Given the description of an element on the screen output the (x, y) to click on. 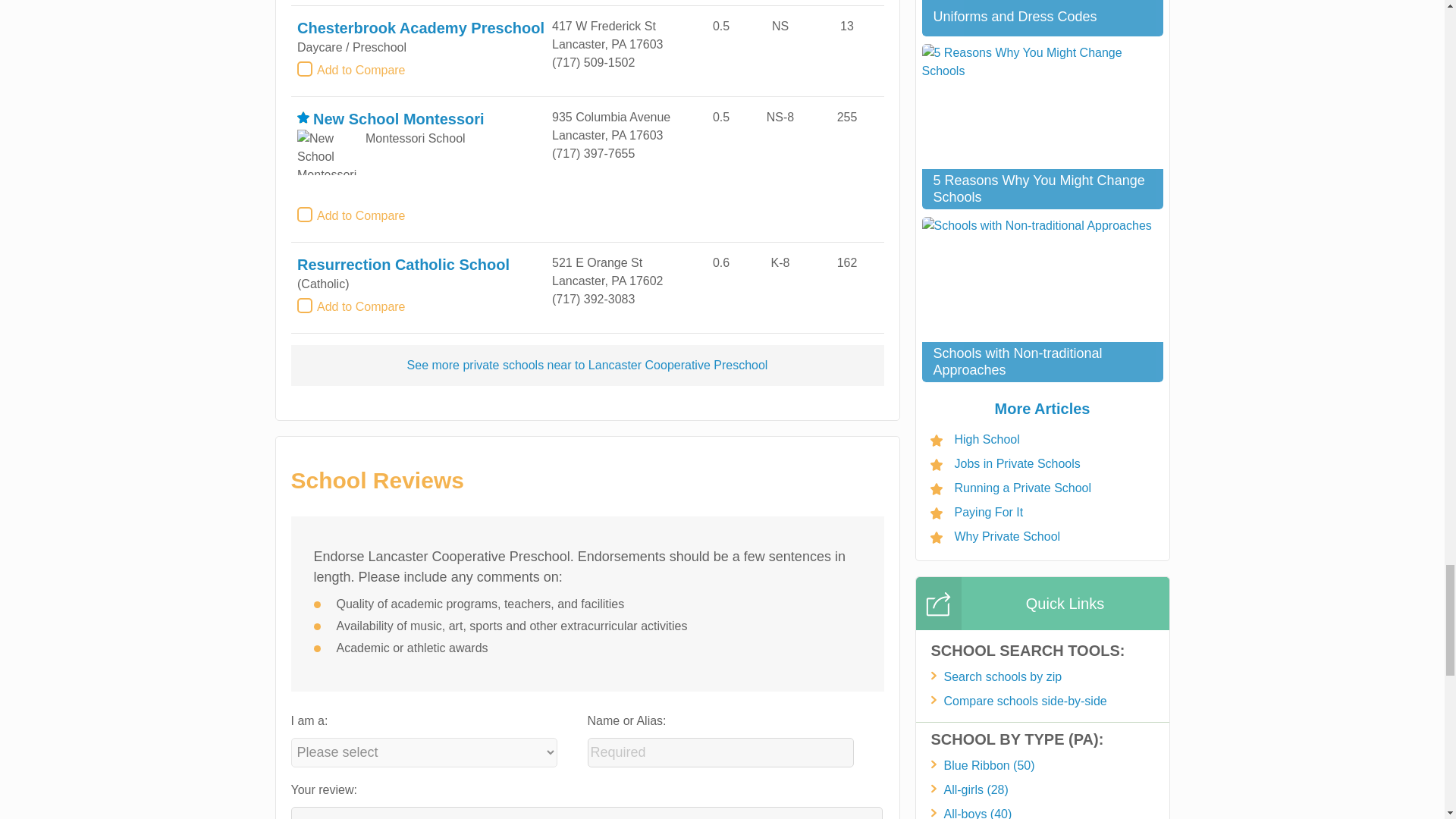
Top Ranked School (302, 117)
42726 (304, 69)
24456 (304, 305)
24227 (304, 214)
New School Montessori Photo (329, 152)
